Given the description of an element on the screen output the (x, y) to click on. 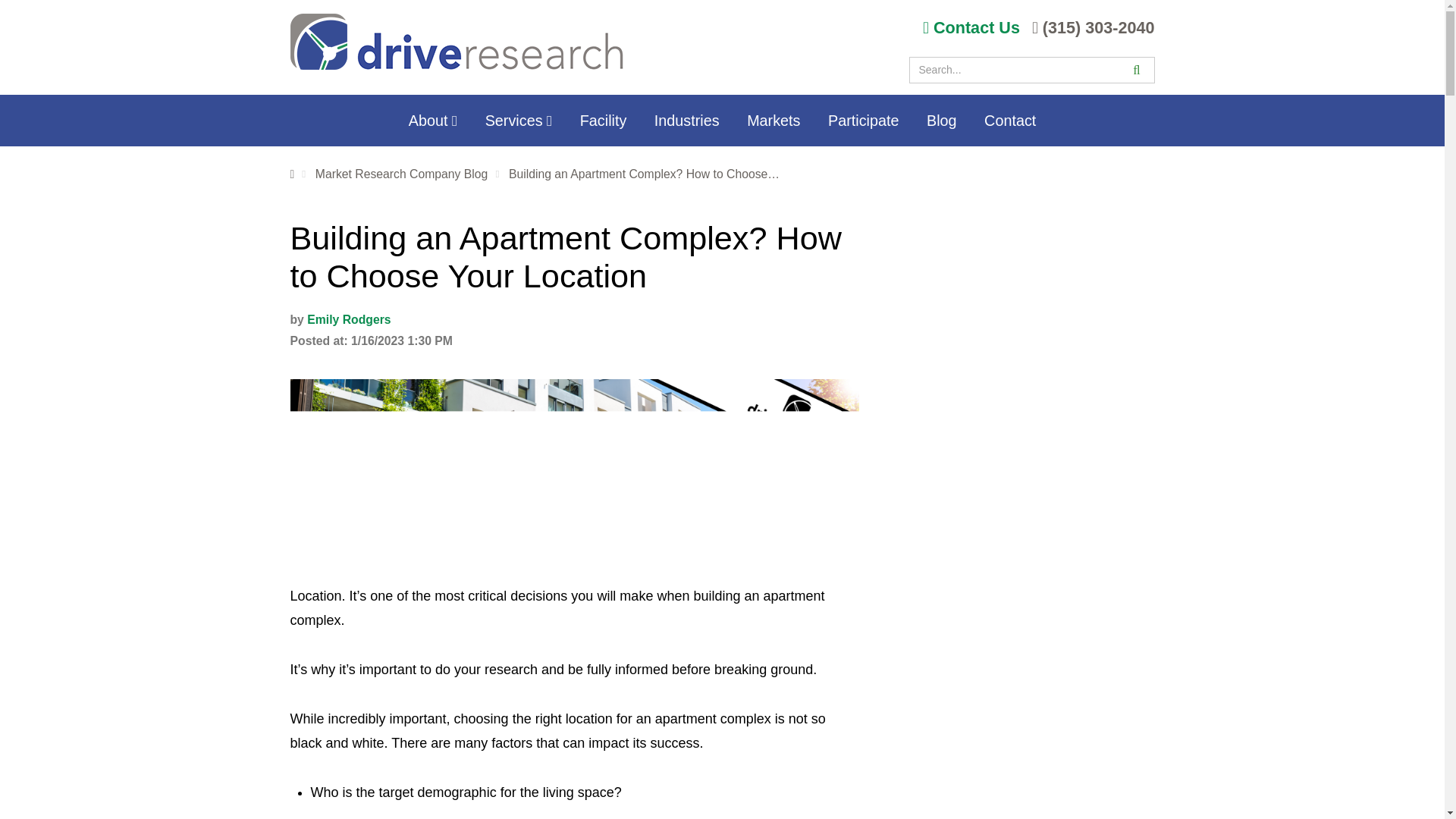
Building an Apartment Complex? How to Choose Your Location (644, 174)
Market Research Company Blog (401, 174)
Contact (1010, 120)
About (432, 120)
Blog (941, 120)
Facility (603, 120)
Markets (773, 120)
Contact Us (974, 27)
Emily Rodgers (348, 318)
Services (518, 120)
